Given the description of an element on the screen output the (x, y) to click on. 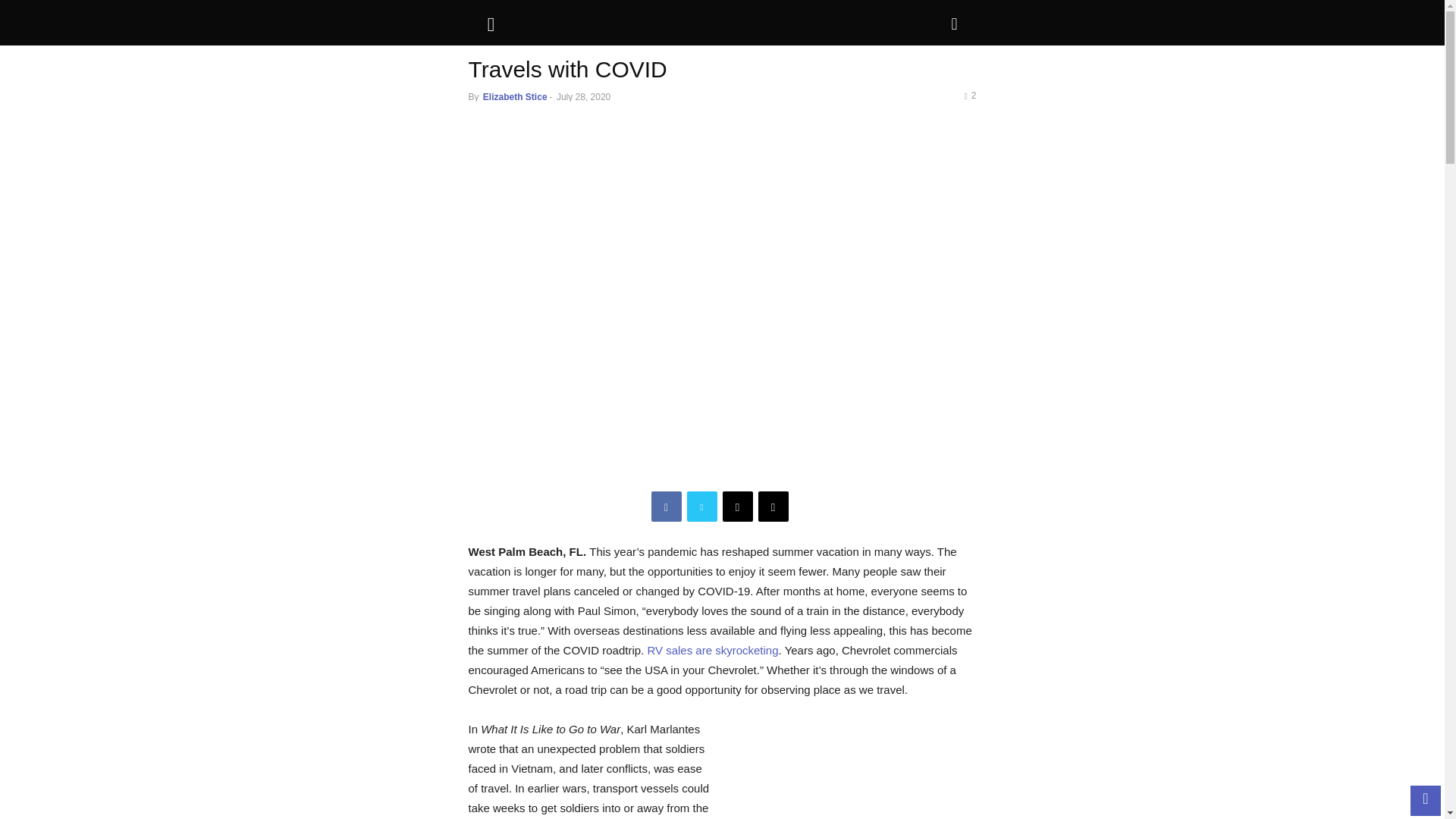
Print (773, 506)
2 (969, 95)
RV sales are skyrocketing (711, 649)
Email (737, 506)
Elizabeth Stice (515, 96)
Facebook (665, 506)
Twitter (702, 506)
